Given the description of an element on the screen output the (x, y) to click on. 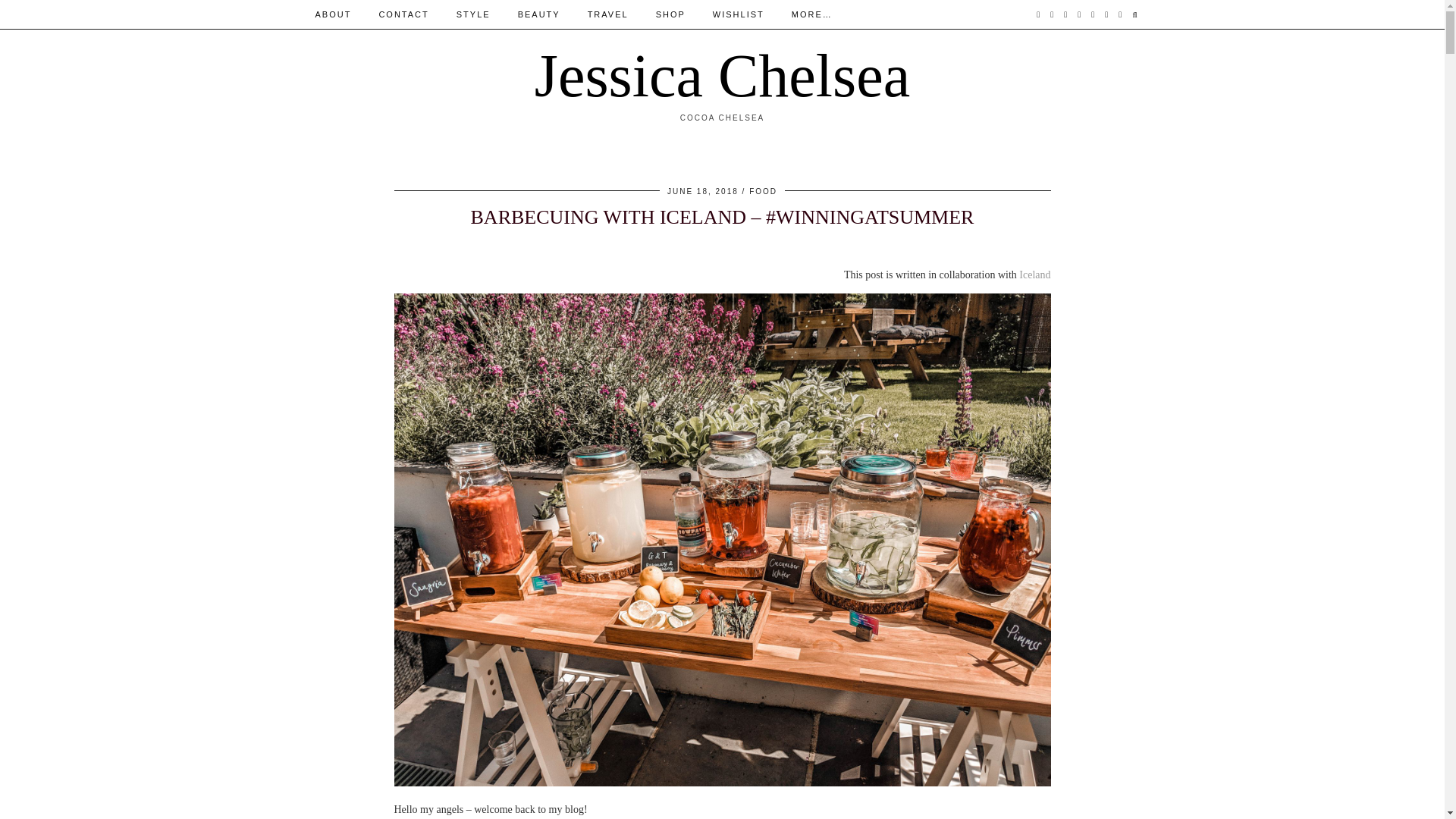
Jessica Chelsea (722, 75)
SHOP (670, 14)
TRAVEL (607, 14)
WISHLIST (737, 14)
STYLE (472, 14)
CONTACT (403, 14)
BEAUTY (538, 14)
Jessica Chelsea (722, 75)
ABOUT (333, 14)
